Given the description of an element on the screen output the (x, y) to click on. 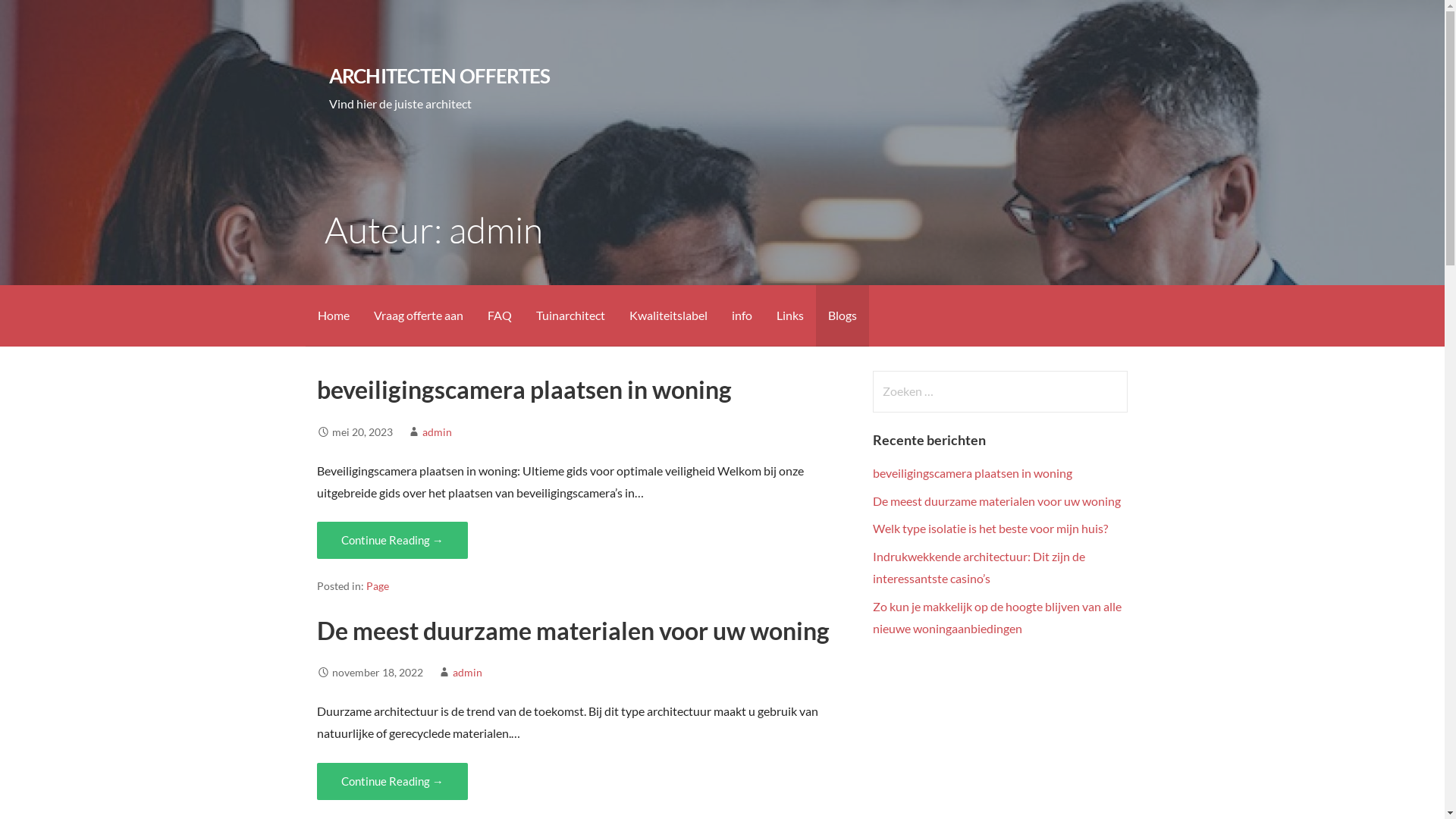
beveiligingscamera plaatsen in woning Element type: text (523, 389)
Links Element type: text (789, 315)
ARCHITECTEN OFFERTES Element type: text (439, 75)
Vraag offerte aan Element type: text (417, 315)
De meest duurzame materialen voor uw woning Element type: text (572, 630)
beveiligingscamera plaatsen in woning Element type: text (972, 472)
Home Element type: text (332, 315)
Kwaliteitslabel Element type: text (668, 315)
FAQ Element type: text (498, 315)
Welk type isolatie is het beste voor mijn huis? Element type: text (989, 527)
Page Element type: text (377, 586)
Tuinarchitect Element type: text (569, 315)
Zoeken Element type: text (42, 18)
Blogs Element type: text (842, 315)
admin Element type: text (436, 431)
info Element type: text (740, 315)
admin Element type: text (467, 671)
De meest duurzame materialen voor uw woning Element type: text (996, 500)
